Given the description of an element on the screen output the (x, y) to click on. 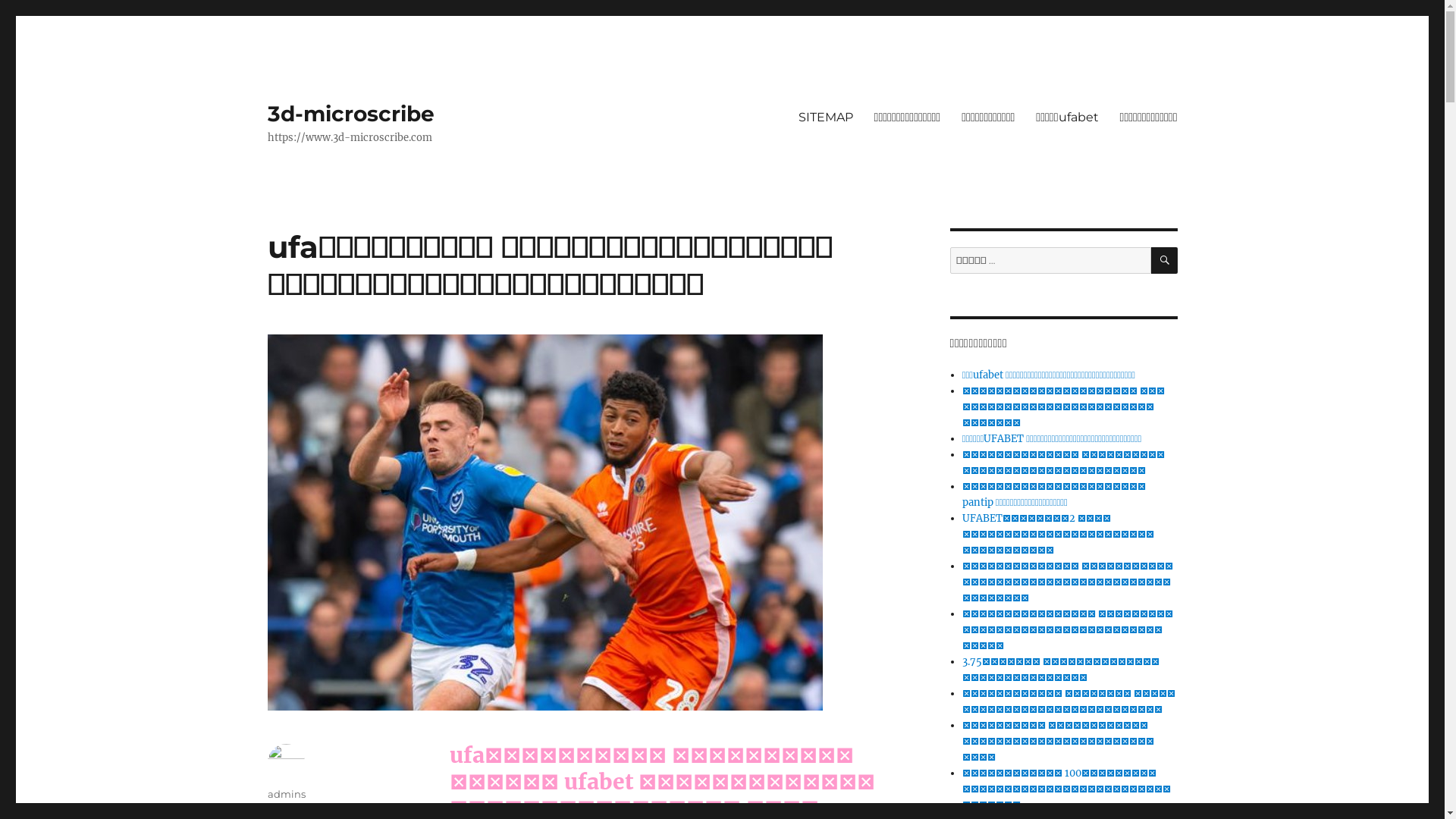
admins Element type: text (285, 793)
3d-microscribe Element type: text (349, 113)
SITEMAP Element type: text (825, 116)
